Given the description of an element on the screen output the (x, y) to click on. 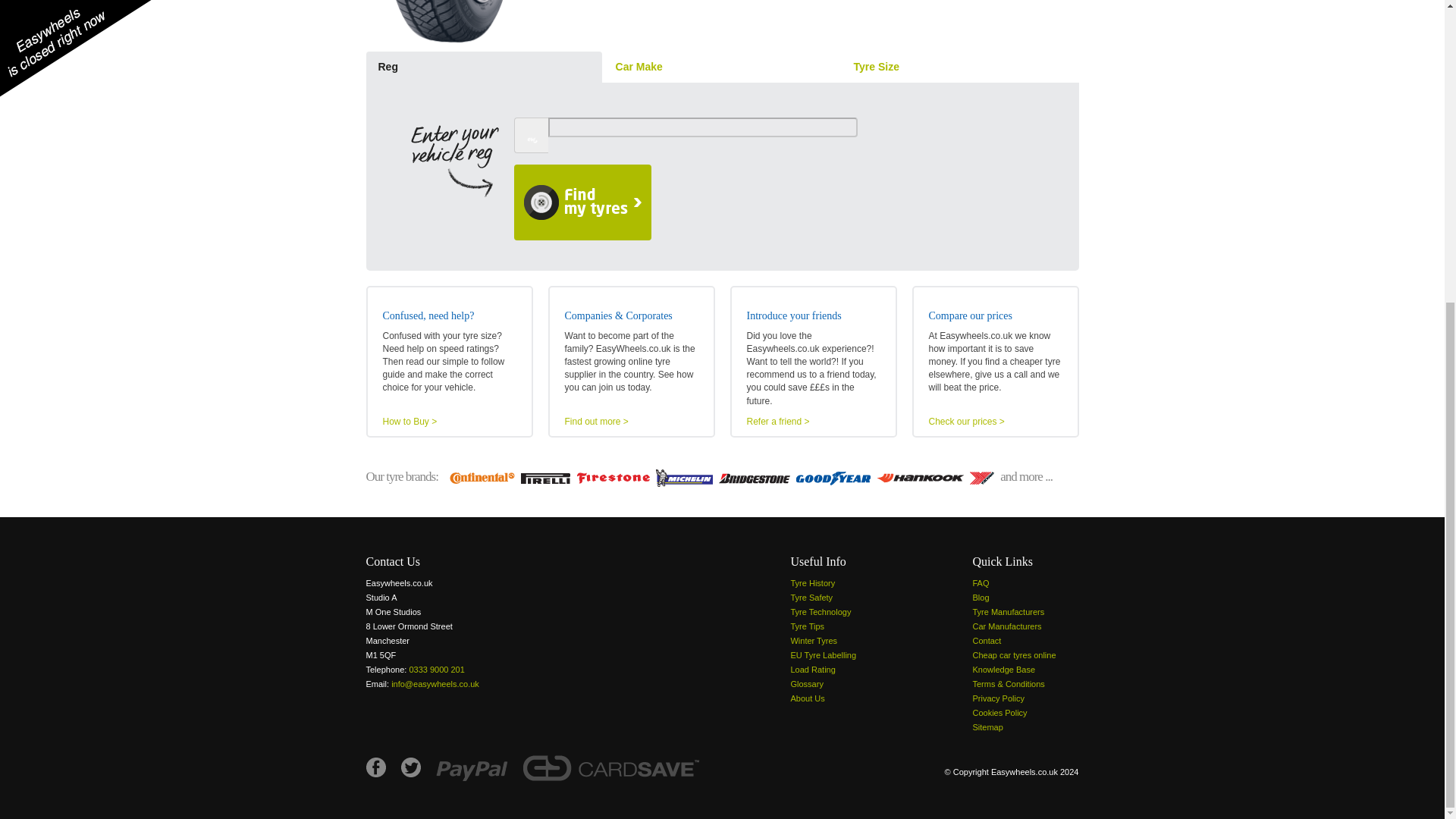
Tyre Size (959, 67)
Car Make (722, 67)
Find us on Facebook (375, 767)
Reg (483, 67)
Follow us on Twitter (410, 767)
